Given the description of an element on the screen output the (x, y) to click on. 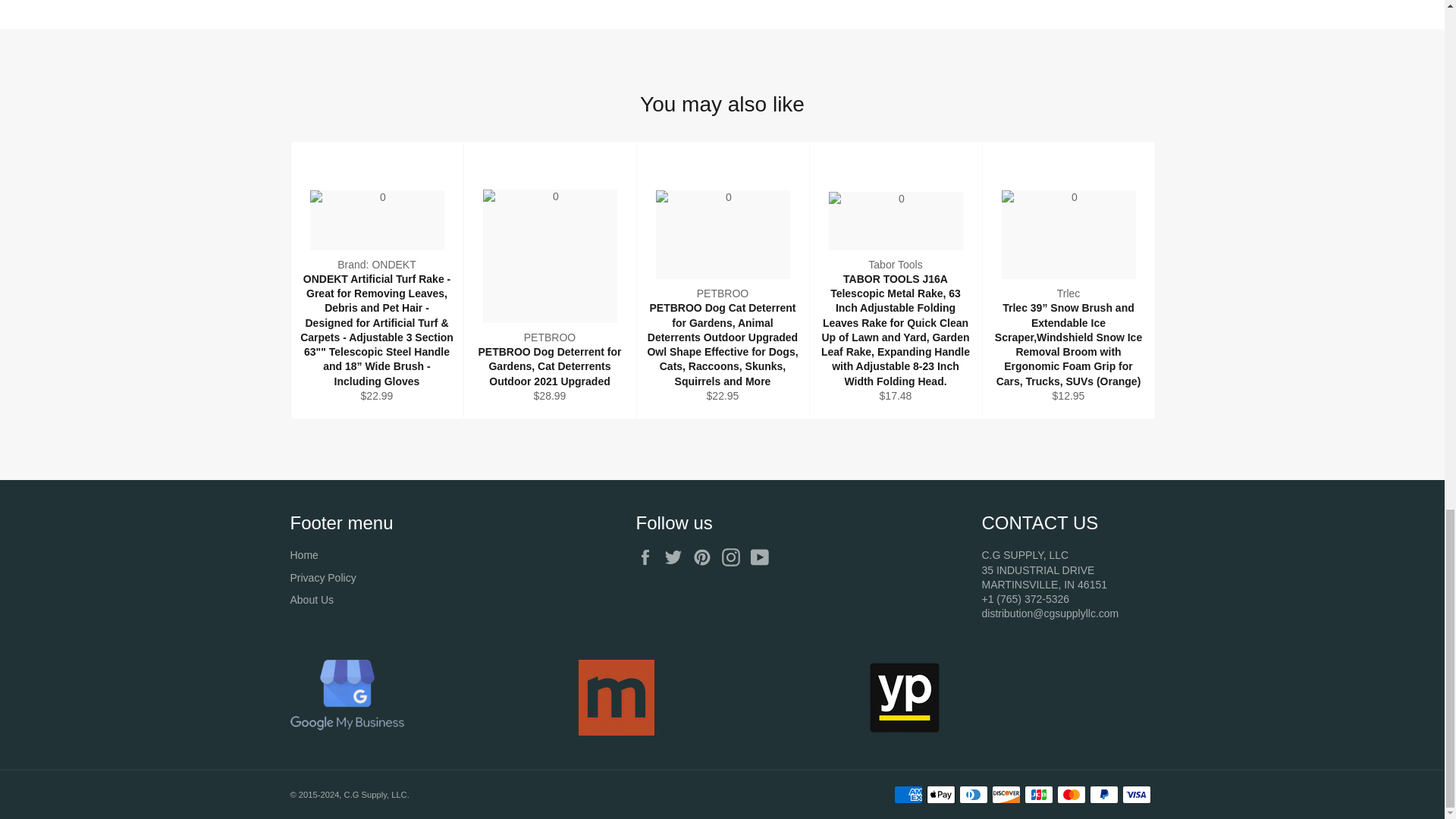
CGsupply on Facebook (647, 556)
CGsupply on Pinterest (706, 556)
CGsupply on Instagram (735, 556)
CGsupply on YouTube (763, 556)
CGsupply on Twitter (676, 556)
